Given the description of an element on the screen output the (x, y) to click on. 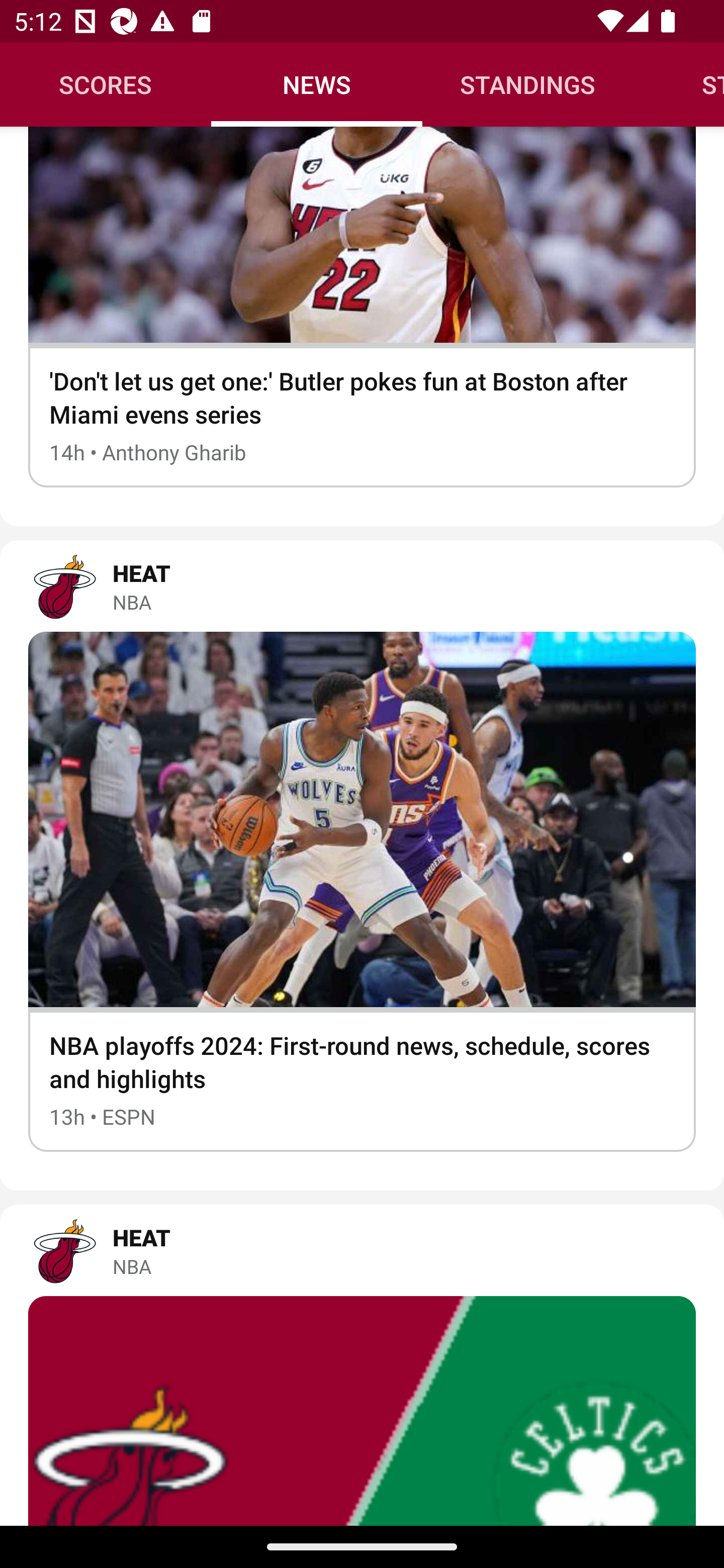
Scores SCORES (105, 84)
Standings STANDINGS (527, 84)
HEAT NBA (362, 585)
HEAT NBA (362, 1250)
